Given the description of an element on the screen output the (x, y) to click on. 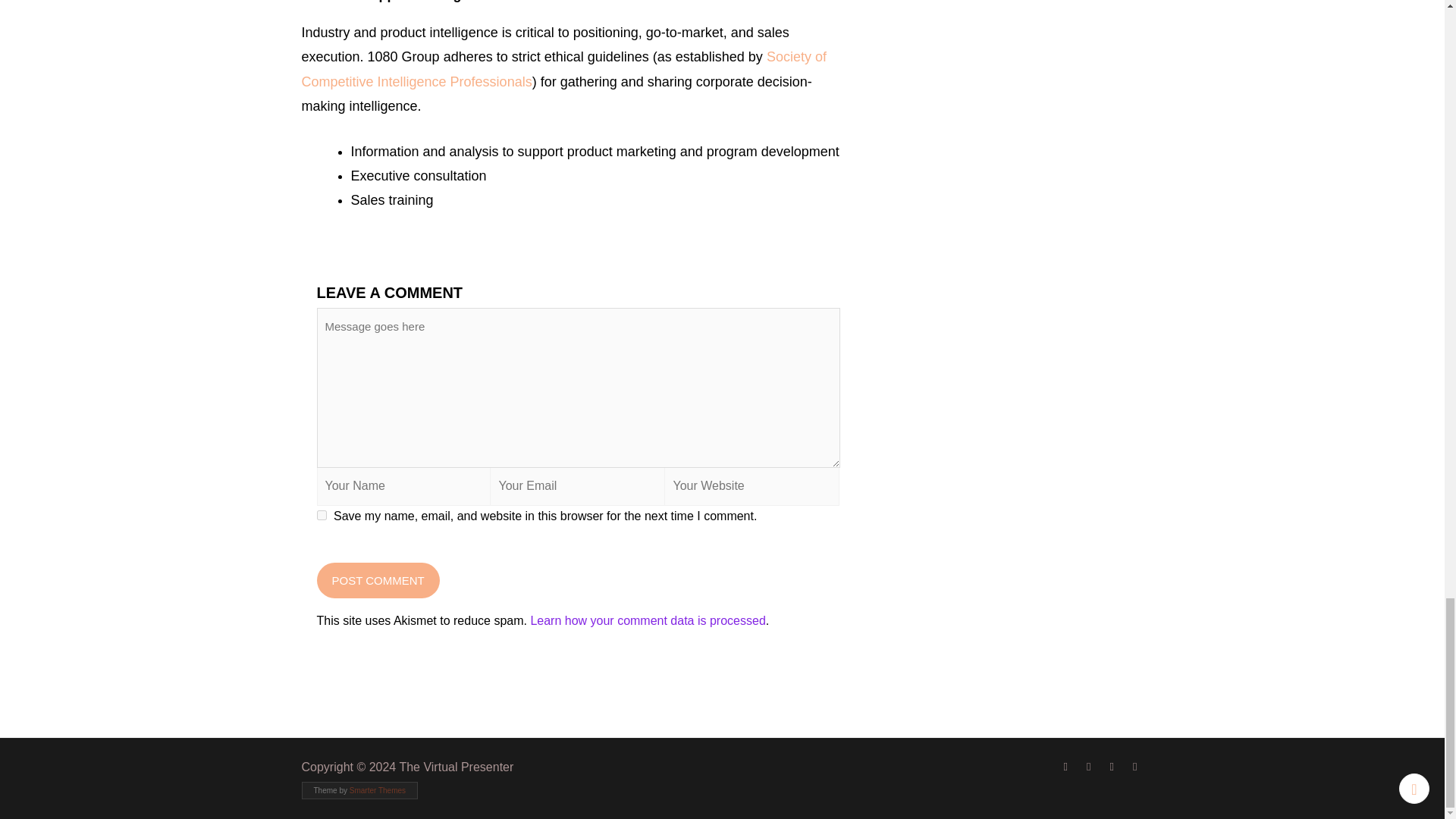
Society of Competitive Intelligence Professionals (564, 68)
yes (321, 515)
POST COMMENT (378, 580)
Learn how your comment data is processed (647, 620)
Smarter Themes (377, 790)
